Given the description of an element on the screen output the (x, y) to click on. 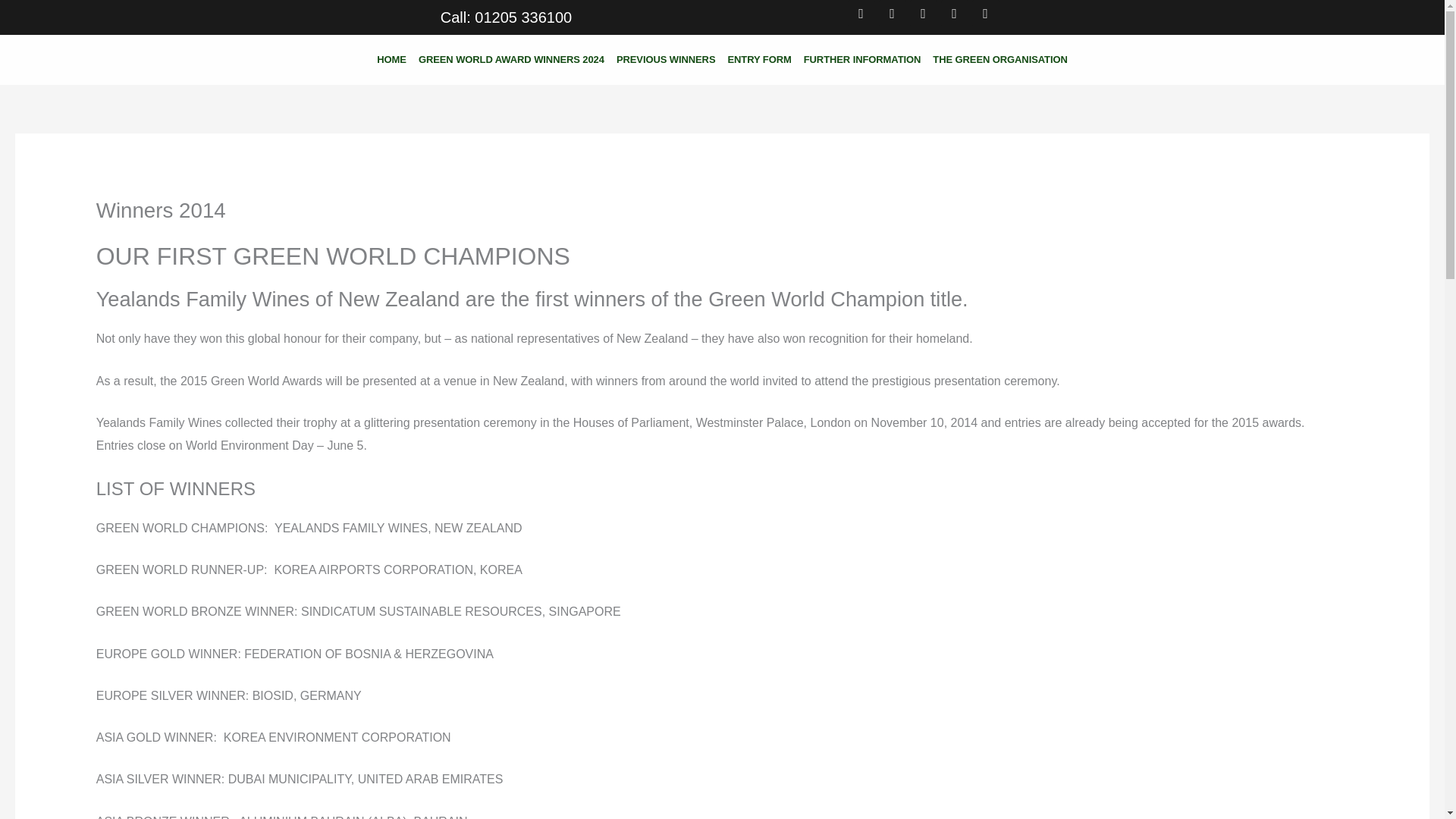
ENTRY FORM (758, 59)
Call: 01205 336100 (506, 17)
HOME (391, 59)
FURTHER INFORMATION (862, 59)
Linkedin (923, 13)
Twitter (891, 13)
GREEN WORLD AWARD WINNERS 2024 (511, 59)
THE GREEN ORGANISATION (999, 59)
PREVIOUS WINNERS (666, 59)
Instagram (985, 13)
